Given the description of an element on the screen output the (x, y) to click on. 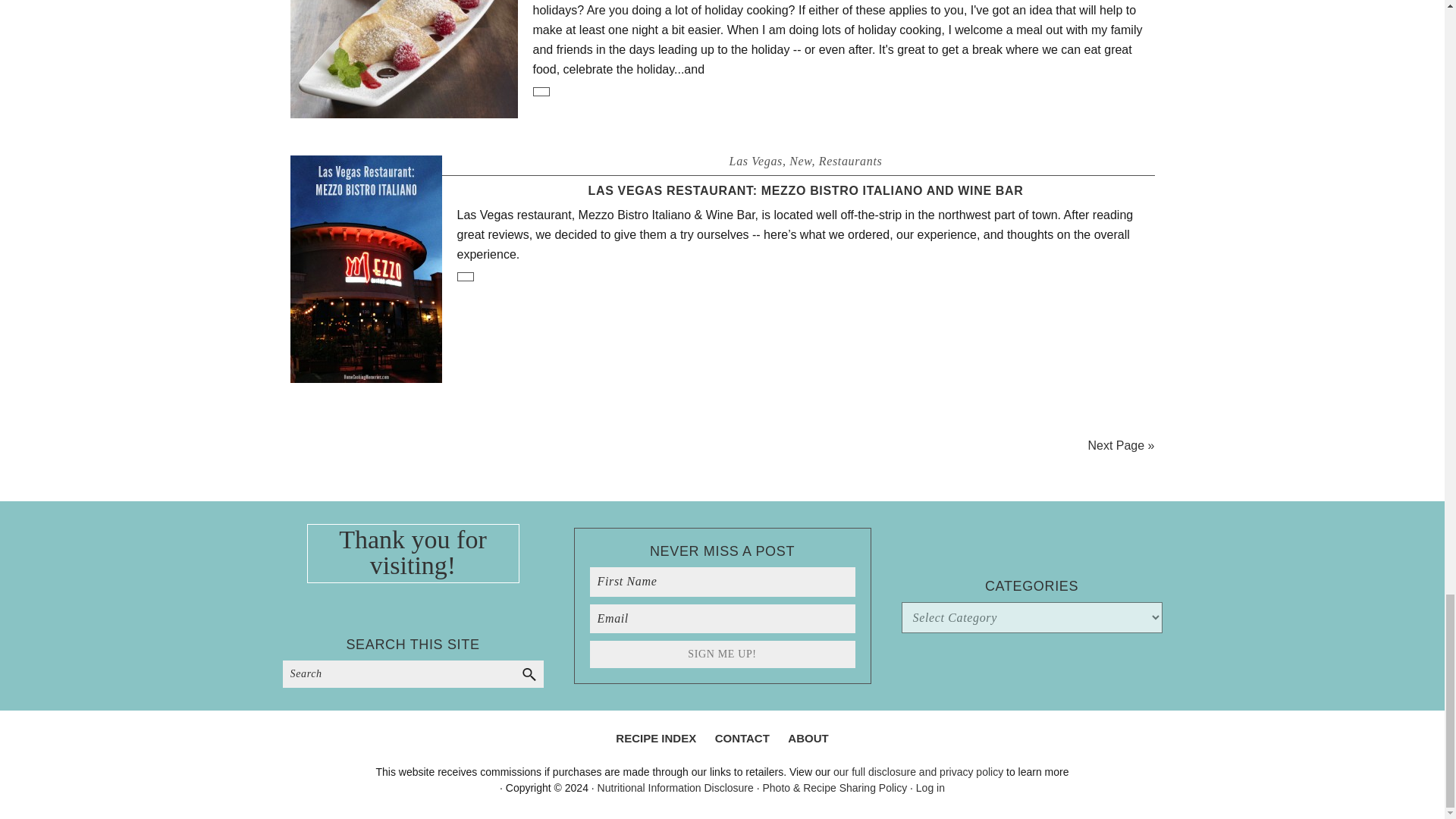
SIGN ME UP! (722, 654)
